Given the description of an element on the screen output the (x, y) to click on. 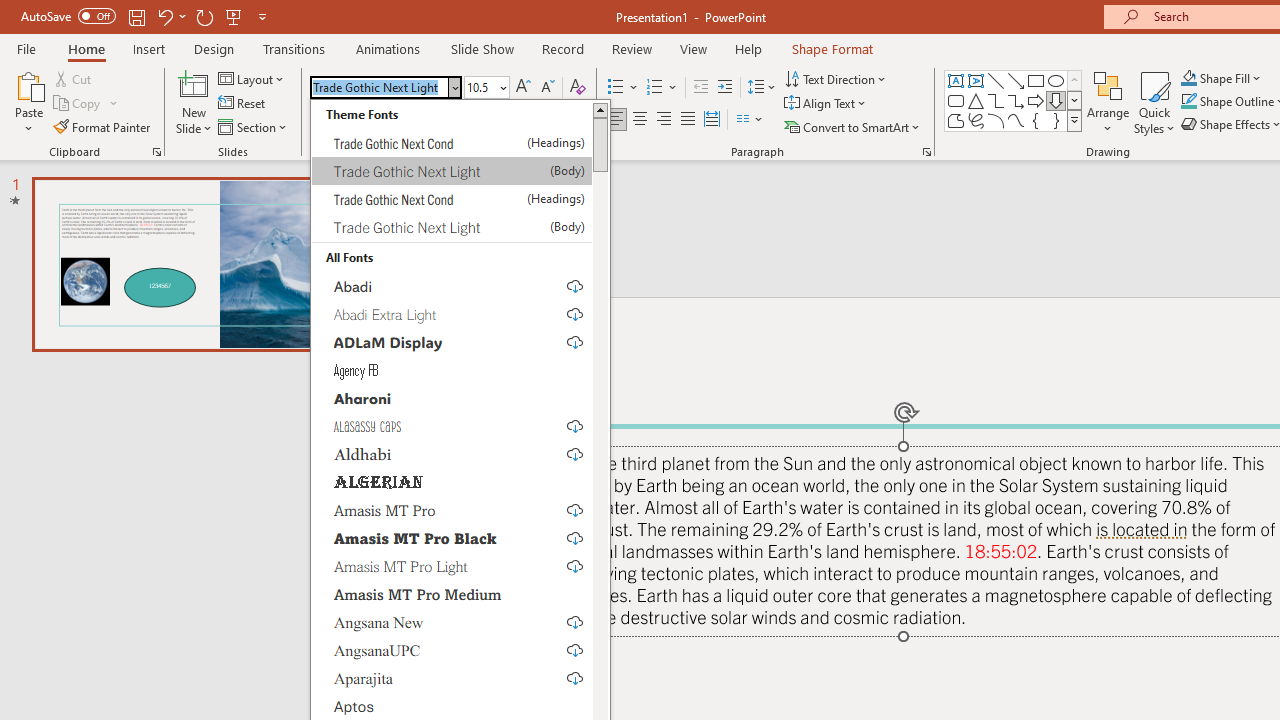
Amasis MT Pro, select to download (451, 510)
